Given the description of an element on the screen output the (x, y) to click on. 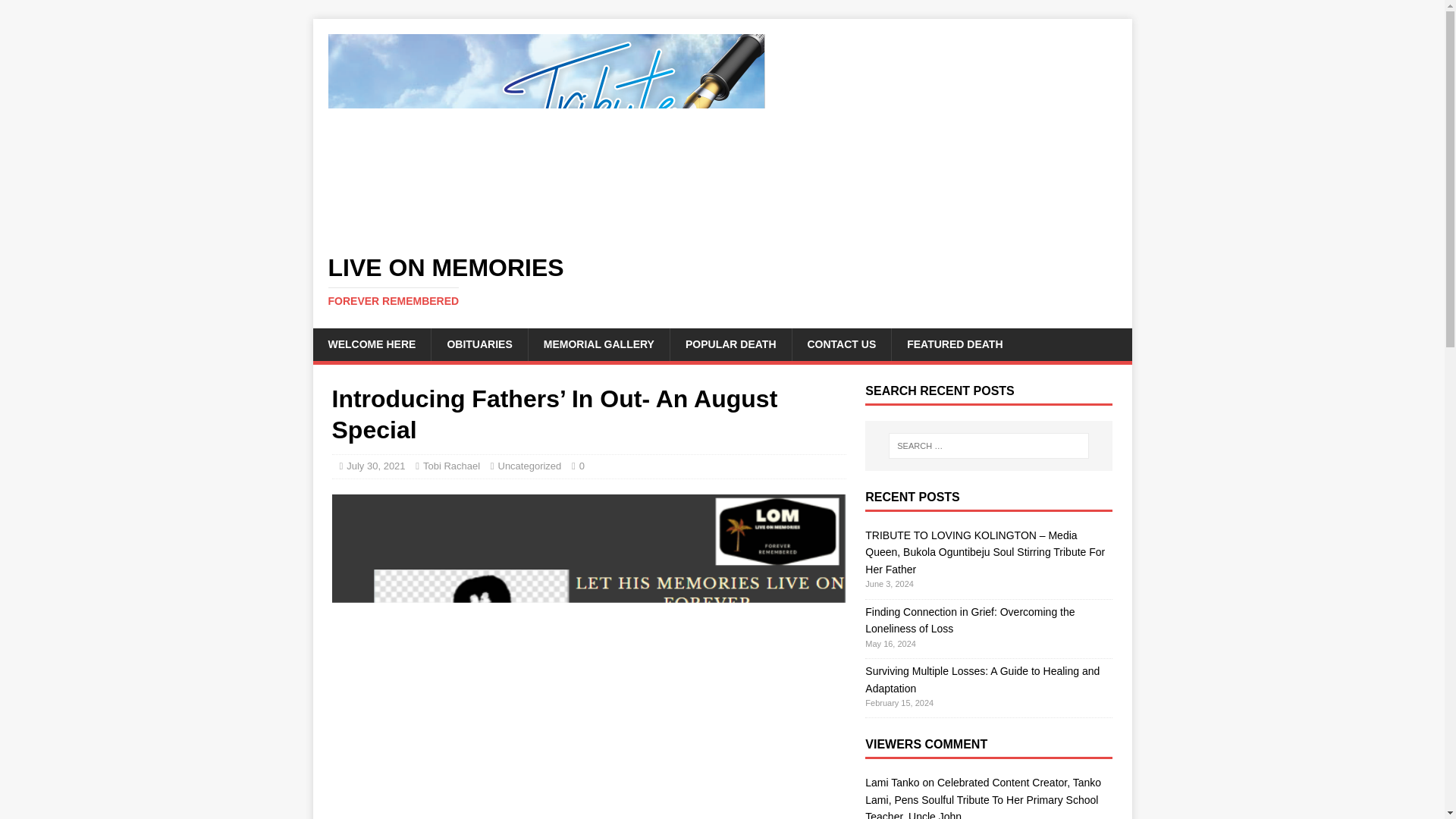
OBITUARIES (478, 344)
FEATURED DEATH (954, 344)
POPULAR DEATH (730, 344)
Uncategorized (528, 465)
MEMORIAL GALLERY (598, 344)
Search (56, 11)
CONTACT US (841, 344)
Live on Memories  (721, 281)
July 30, 2021 (375, 465)
Surviving Multiple Losses: A Guide to Healing and Adaptation (981, 679)
Tobi Rachael (451, 465)
WELCOME HERE (371, 344)
